Given the description of an element on the screen output the (x, y) to click on. 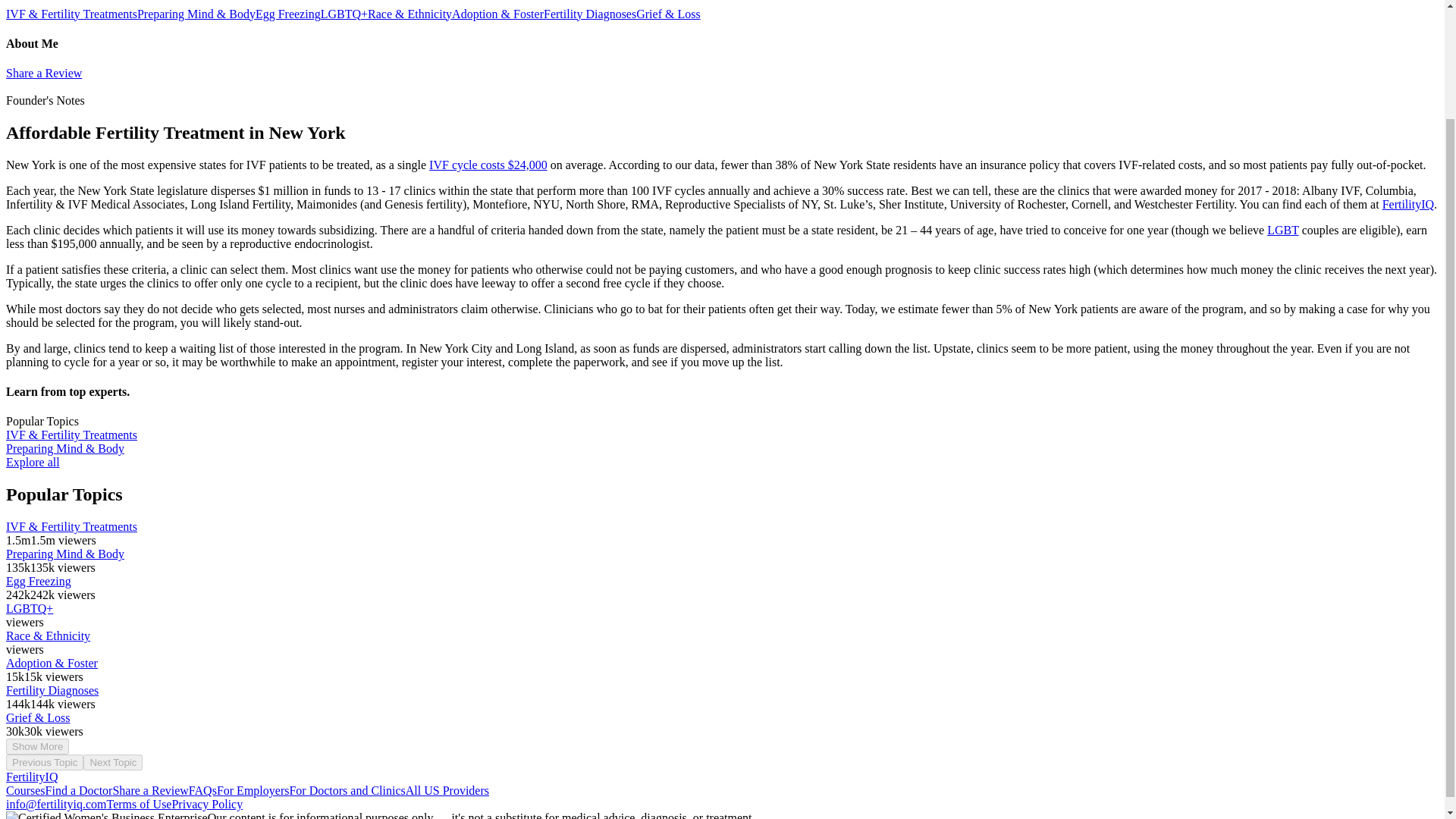
Explore all (32, 461)
Next Topic (112, 762)
Previous Topic (43, 762)
Fertility Diagnoses (589, 13)
Show More (36, 746)
Share a Review (43, 72)
LGBT (1282, 229)
Egg Freezing (288, 13)
